Given the description of an element on the screen output the (x, y) to click on. 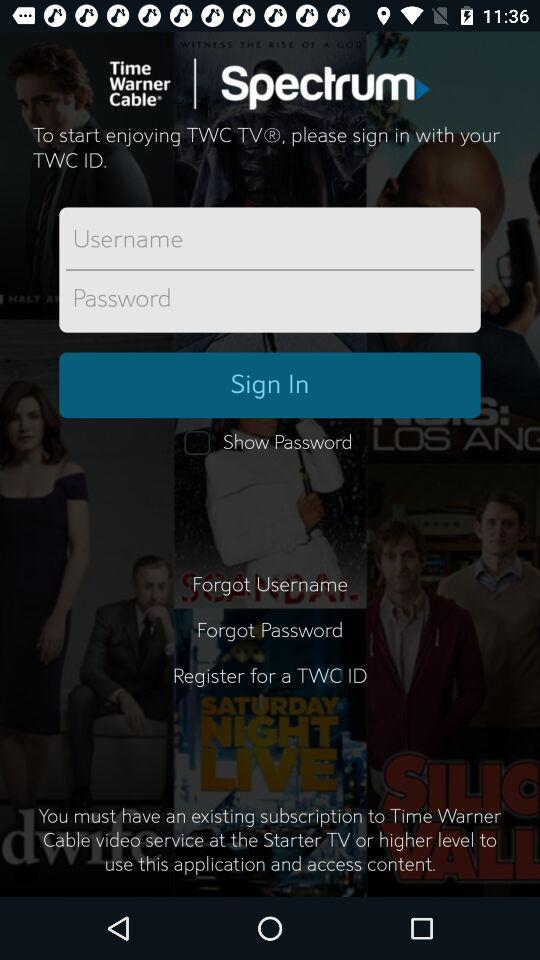
turn off show password (269, 443)
